Given the description of an element on the screen output the (x, y) to click on. 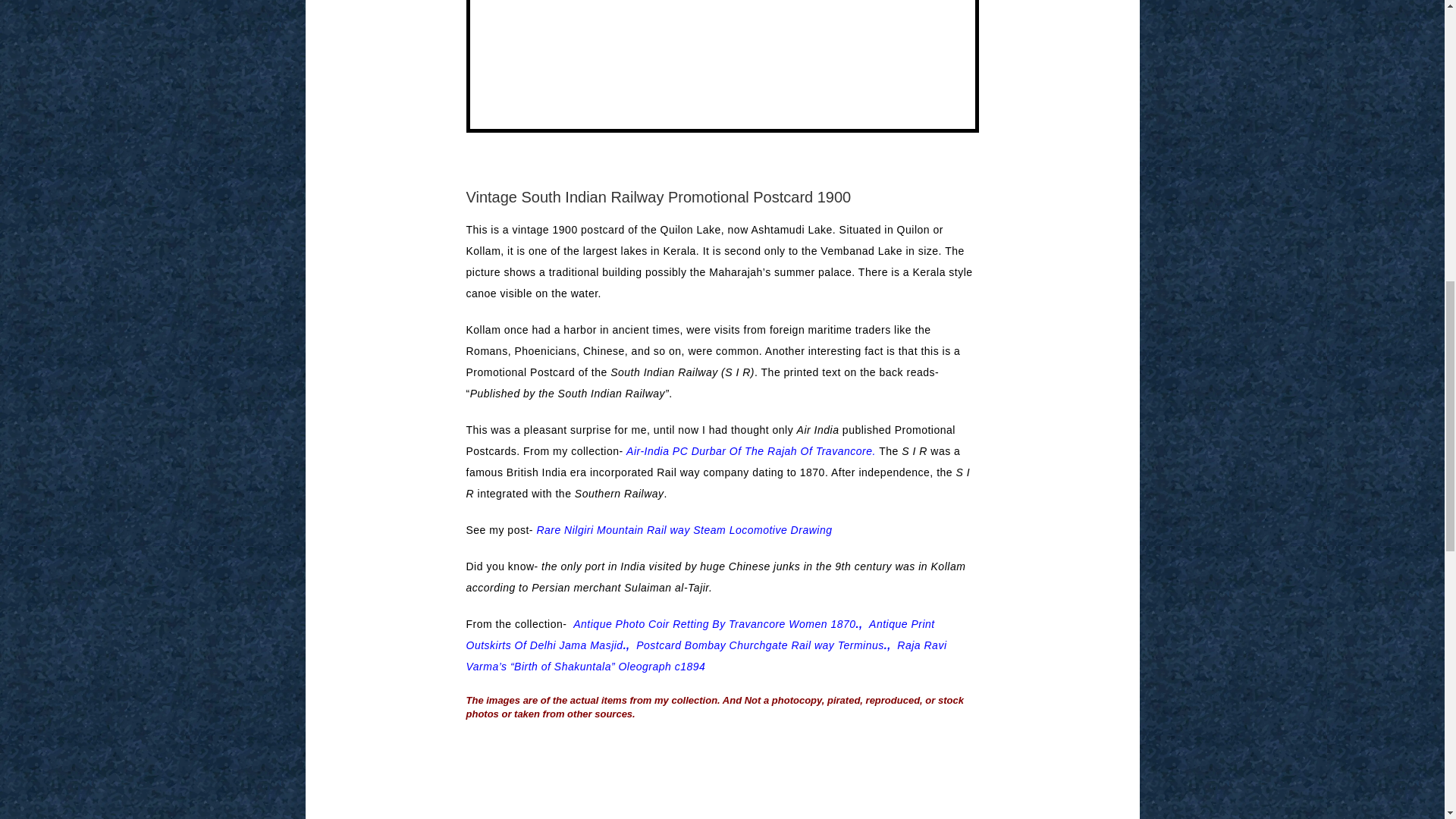
Air-India PC Durbar Of The Rajah Of Travancore (749, 451)
Vintage South Indian Railway Promotional Postcard 1900 (721, 66)
View Larger Image (721, 66)
Rare Nilgiri Mountain Rail way Steam Locomotive Drawing (683, 530)
